Given the description of an element on the screen output the (x, y) to click on. 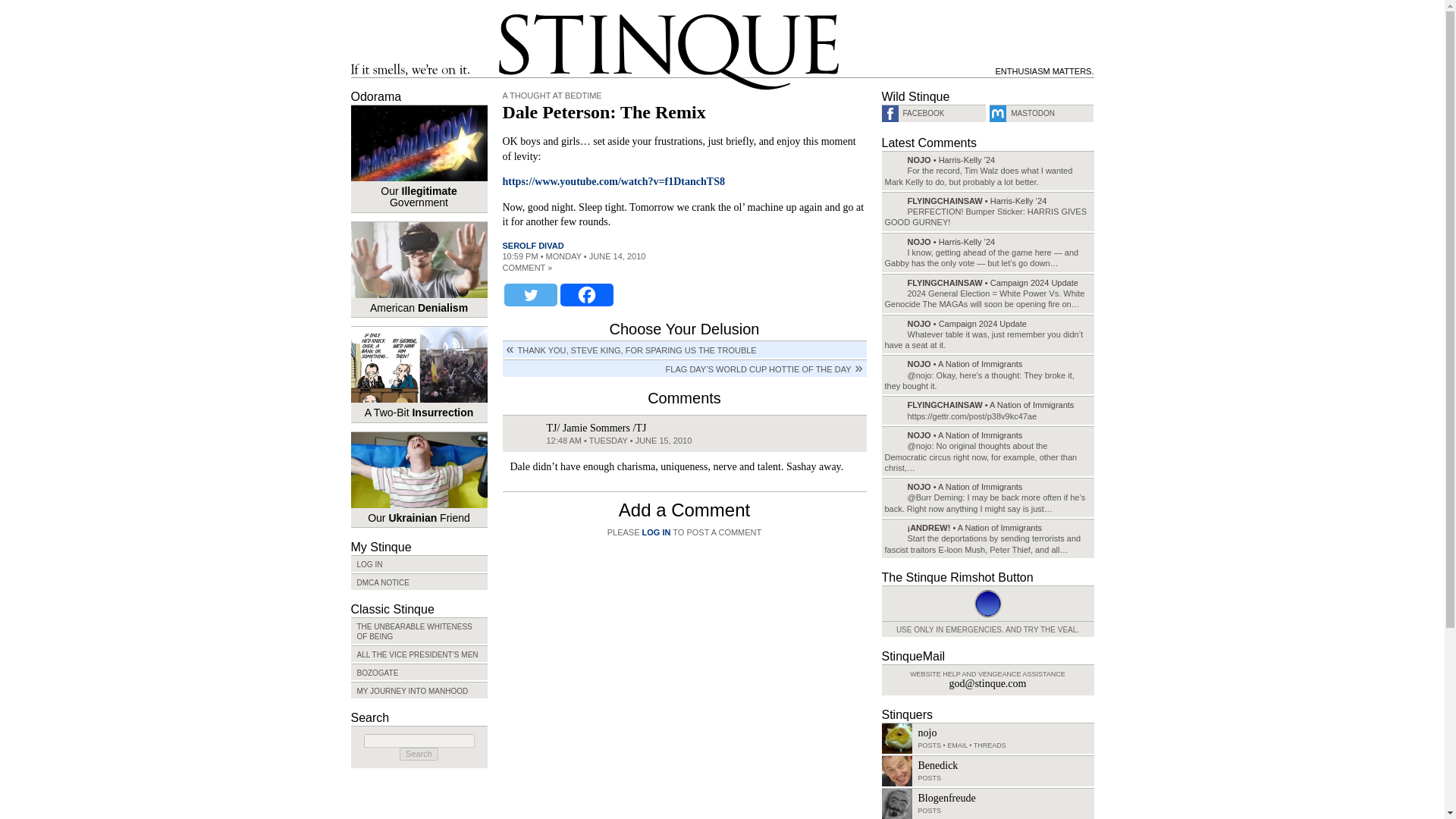
Facebook (585, 294)
Posts by Serolf Divad (532, 245)
SEROLF DIVAD (532, 245)
FACEBOOK (932, 113)
BOZOGATE (418, 671)
MASTODON (1041, 113)
A Two-Bit Insurrection (418, 373)
Our Illegitimate Government (418, 158)
American Denialism (418, 269)
MY JOURNEY INTO MANHOOD (418, 689)
